Given the description of an element on the screen output the (x, y) to click on. 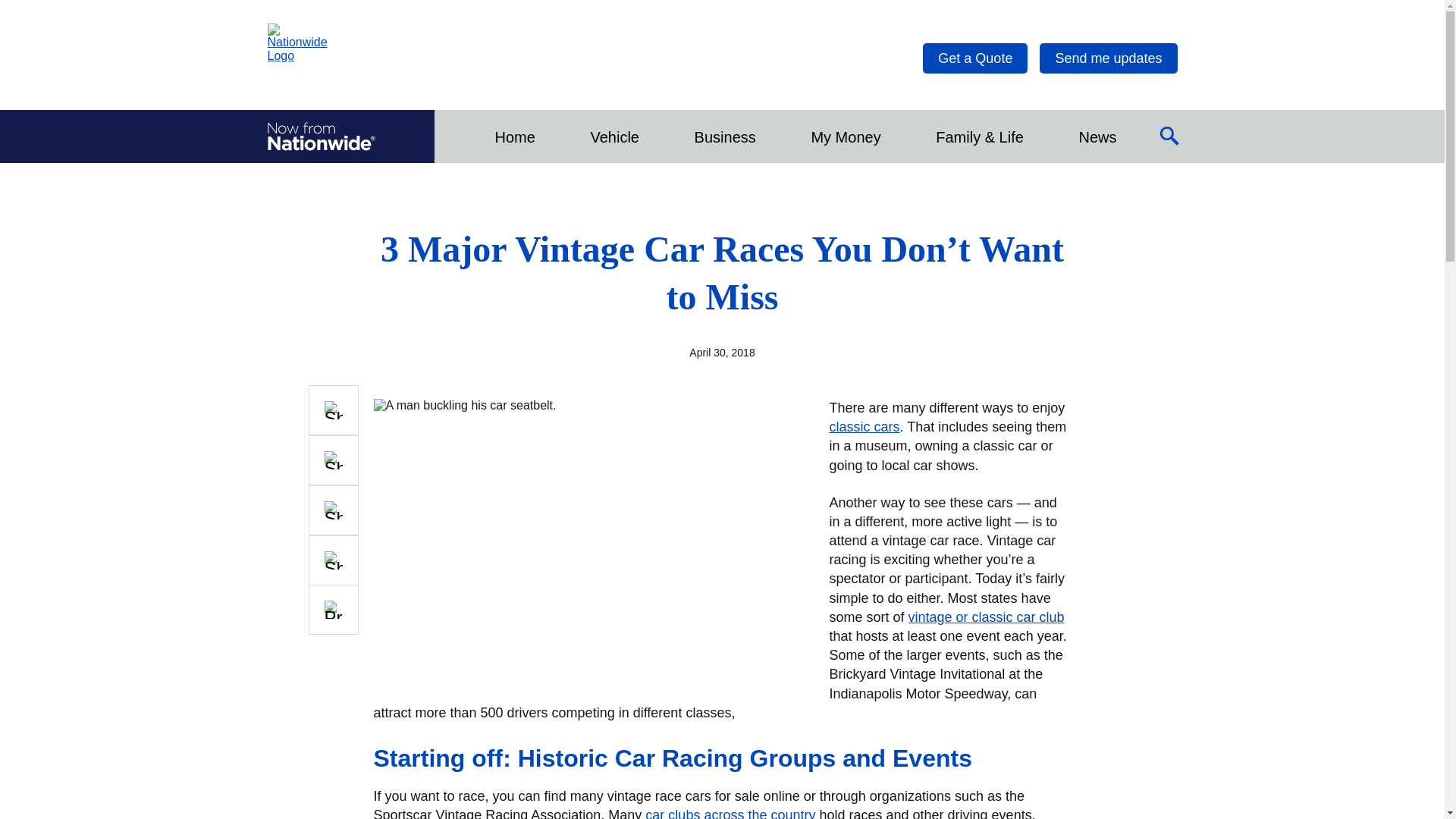
Vehicle (614, 135)
Get a Quote (975, 58)
Business (725, 135)
My Money (844, 135)
Home (514, 135)
Send me updates (1107, 58)
